Given the description of an element on the screen output the (x, y) to click on. 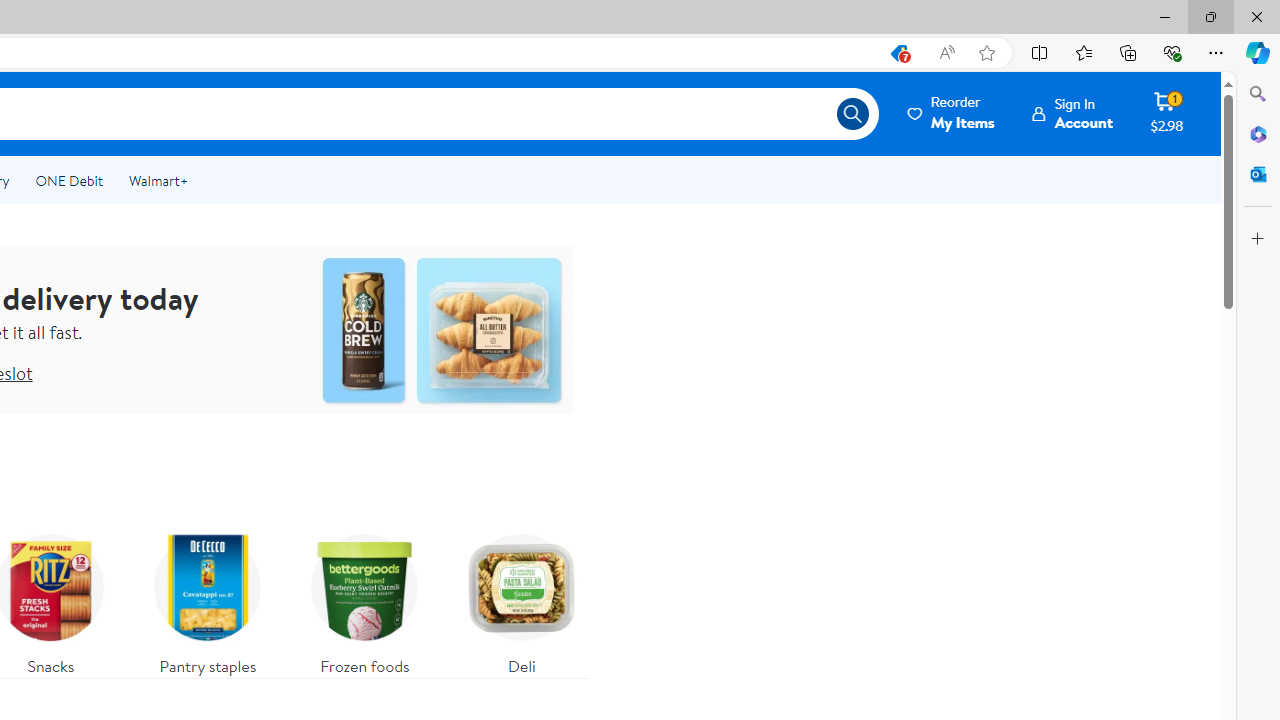
Cart contains 1 item Total Amount $2.98 (1166, 113)
Pantry staples (207, 599)
Sign In Account (1072, 113)
